Given the description of an element on the screen output the (x, y) to click on. 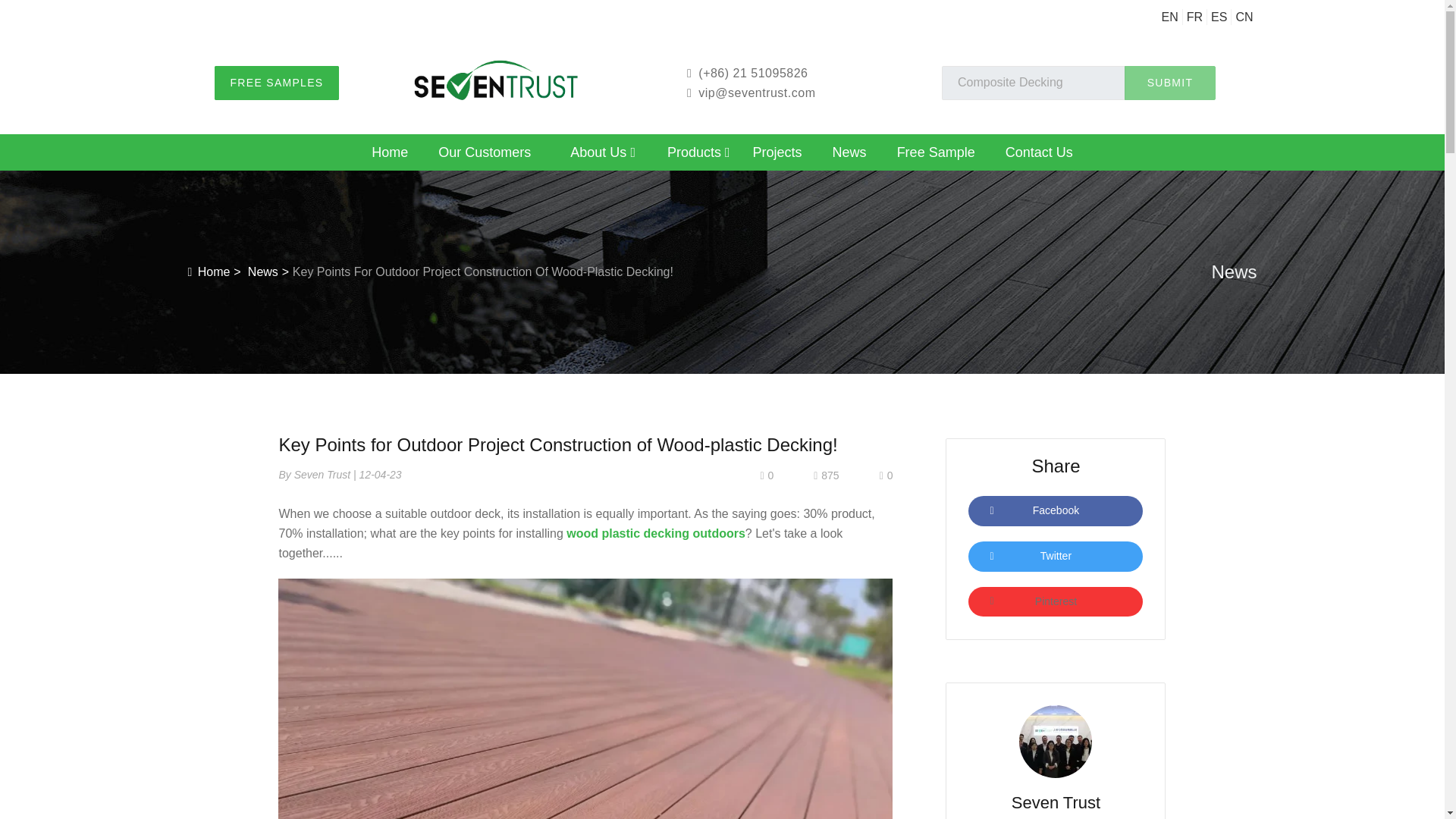
CN (1243, 17)
SUBMIT (1169, 82)
Our Customers (484, 155)
Our Customers (484, 155)
Home (389, 155)
ES (1219, 17)
Home (389, 155)
About Us  (602, 155)
FR (1194, 17)
Products  (698, 155)
About Us (602, 155)
EN (1169, 17)
FREE SAMPLES (276, 82)
